Given the description of an element on the screen output the (x, y) to click on. 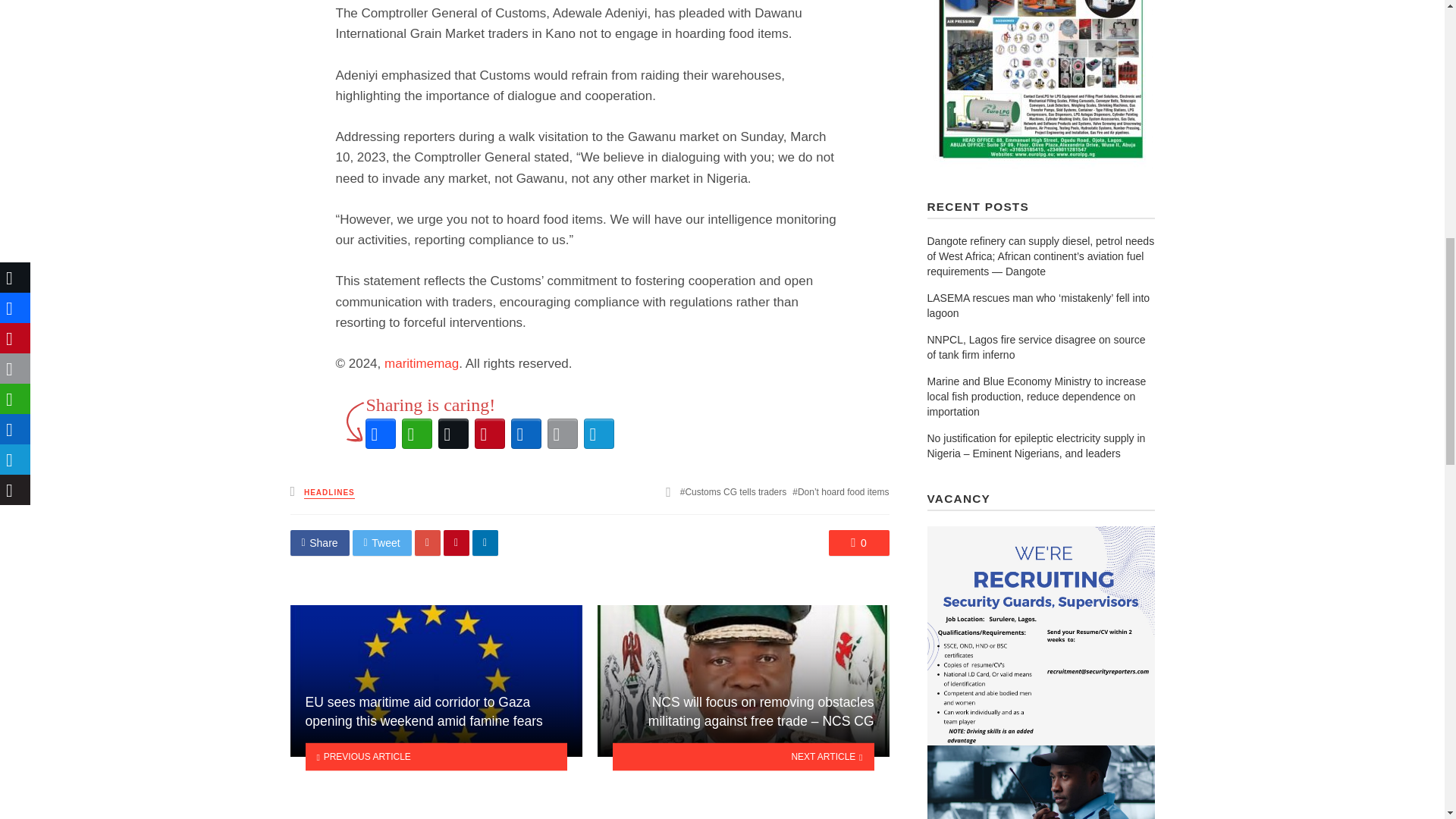
HEADLINES (329, 492)
LinkedIn (526, 433)
Share (319, 542)
Email This (562, 433)
Customs CG tells traders (733, 491)
Tweet (382, 542)
Share on Twitter (382, 542)
Share on Facebook (319, 542)
maritimemag (421, 363)
Facebook (380, 433)
WhatsApp (416, 433)
SMS (598, 433)
Pinterest (489, 433)
